Given the description of an element on the screen output the (x, y) to click on. 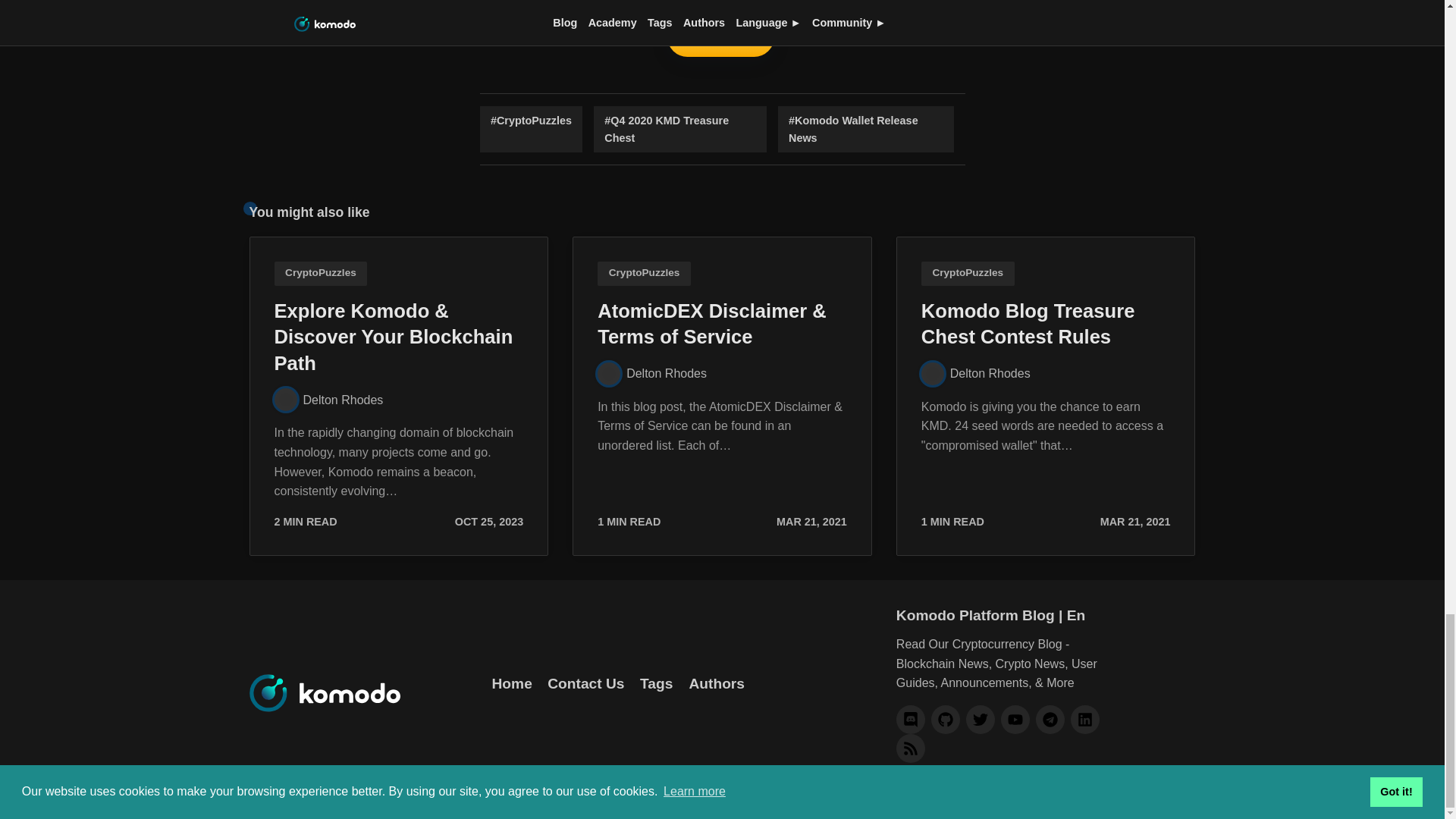
Youtube (1015, 719)
Github (945, 719)
Linkedin (1084, 719)
RSS (910, 747)
Q4 2020 KMD Treasure Chest (680, 128)
Komodo Wallet Release News (865, 128)
Telegram (1049, 719)
Discord (910, 719)
Twitter (980, 719)
CryptoPuzzles (530, 128)
